Given the description of an element on the screen output the (x, y) to click on. 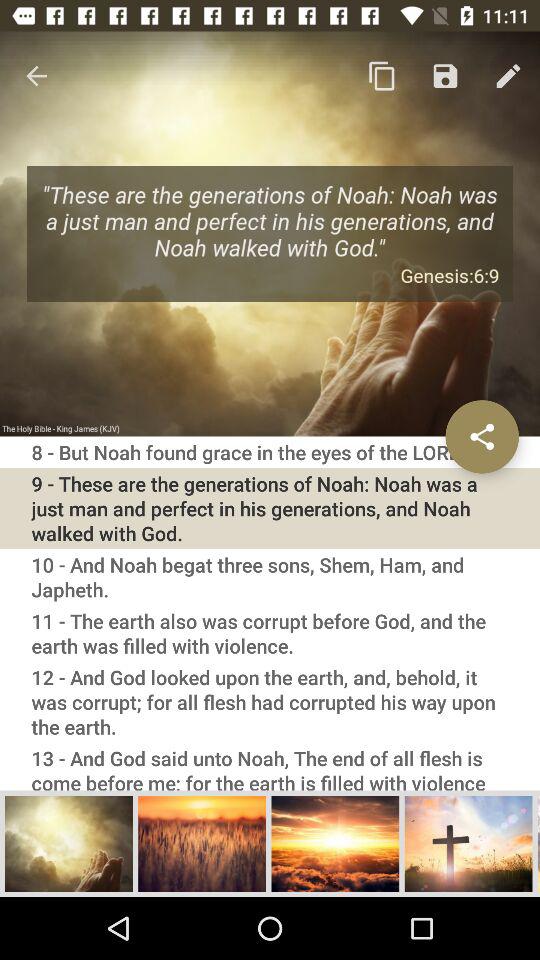
click the 9 these are item (270, 508)
